Given the description of an element on the screen output the (x, y) to click on. 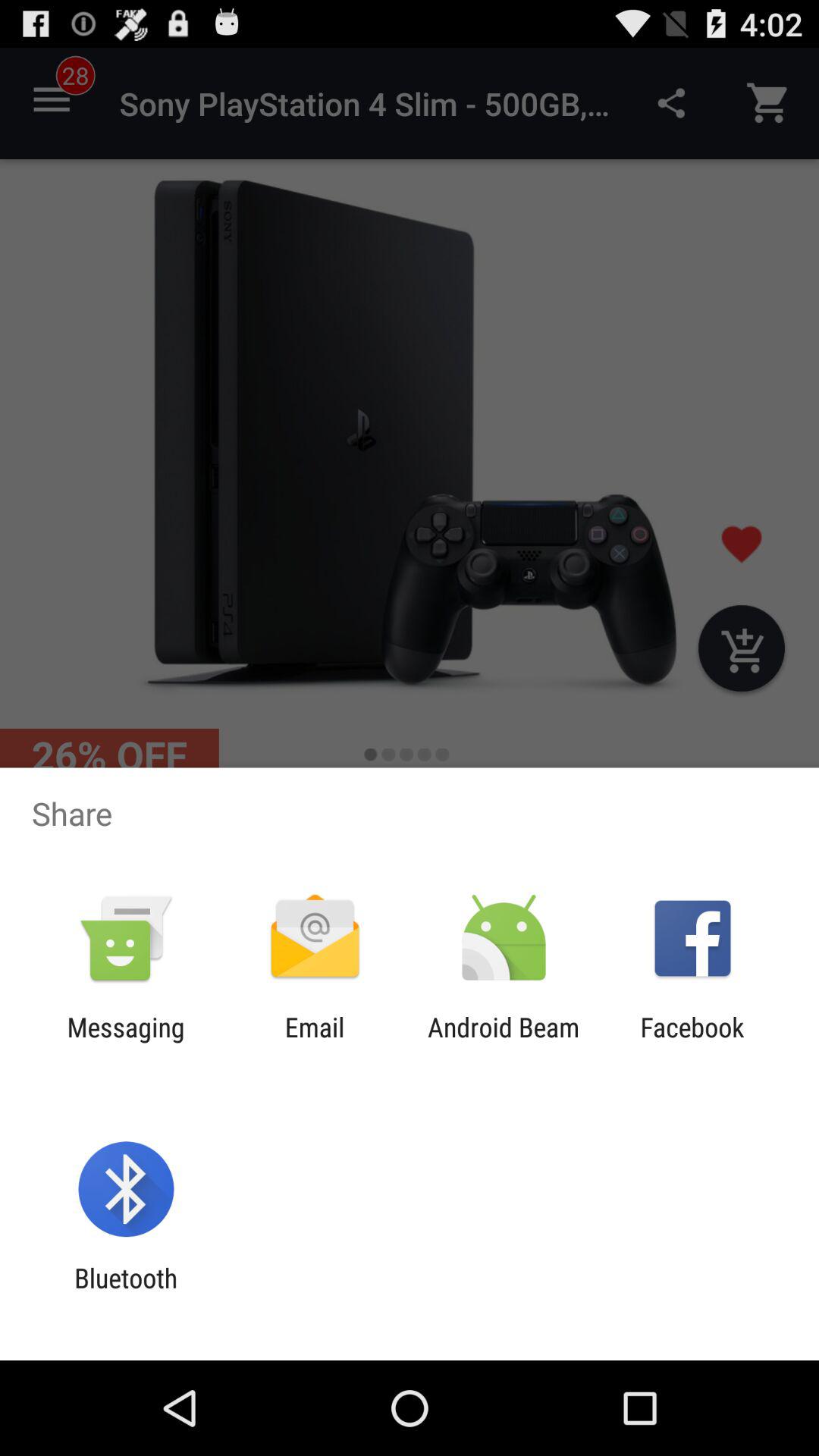
select the icon to the left of the email icon (125, 1042)
